Given the description of an element on the screen output the (x, y) to click on. 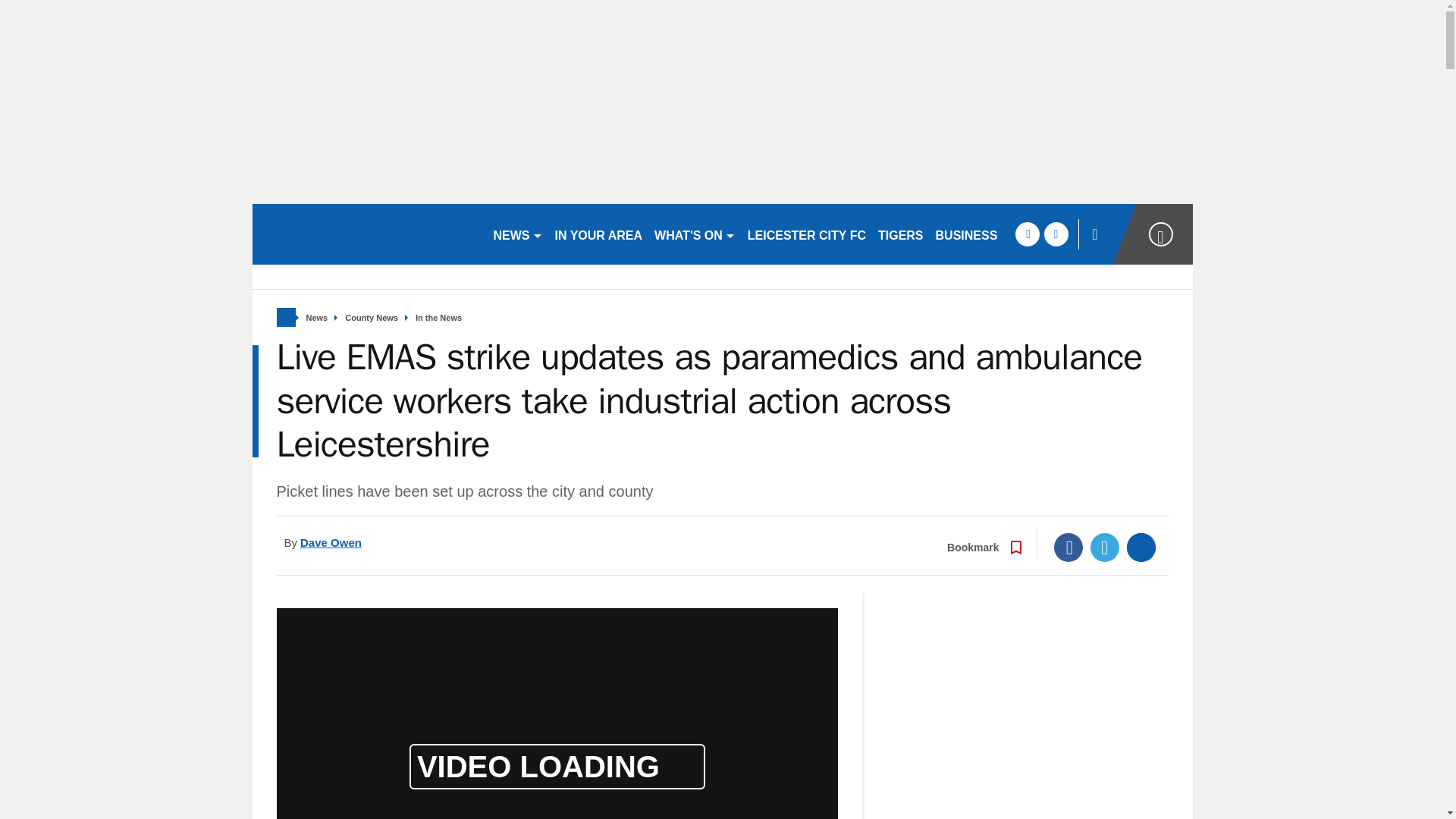
IN YOUR AREA (598, 233)
leicestermercury (365, 233)
twitter (1055, 233)
facebook (1026, 233)
Facebook (1068, 547)
BUSINESS (967, 233)
LEICESTER CITY FC (806, 233)
NEWS (517, 233)
TIGERS (901, 233)
WHAT'S ON (694, 233)
Twitter (1104, 547)
